Given the description of an element on the screen output the (x, y) to click on. 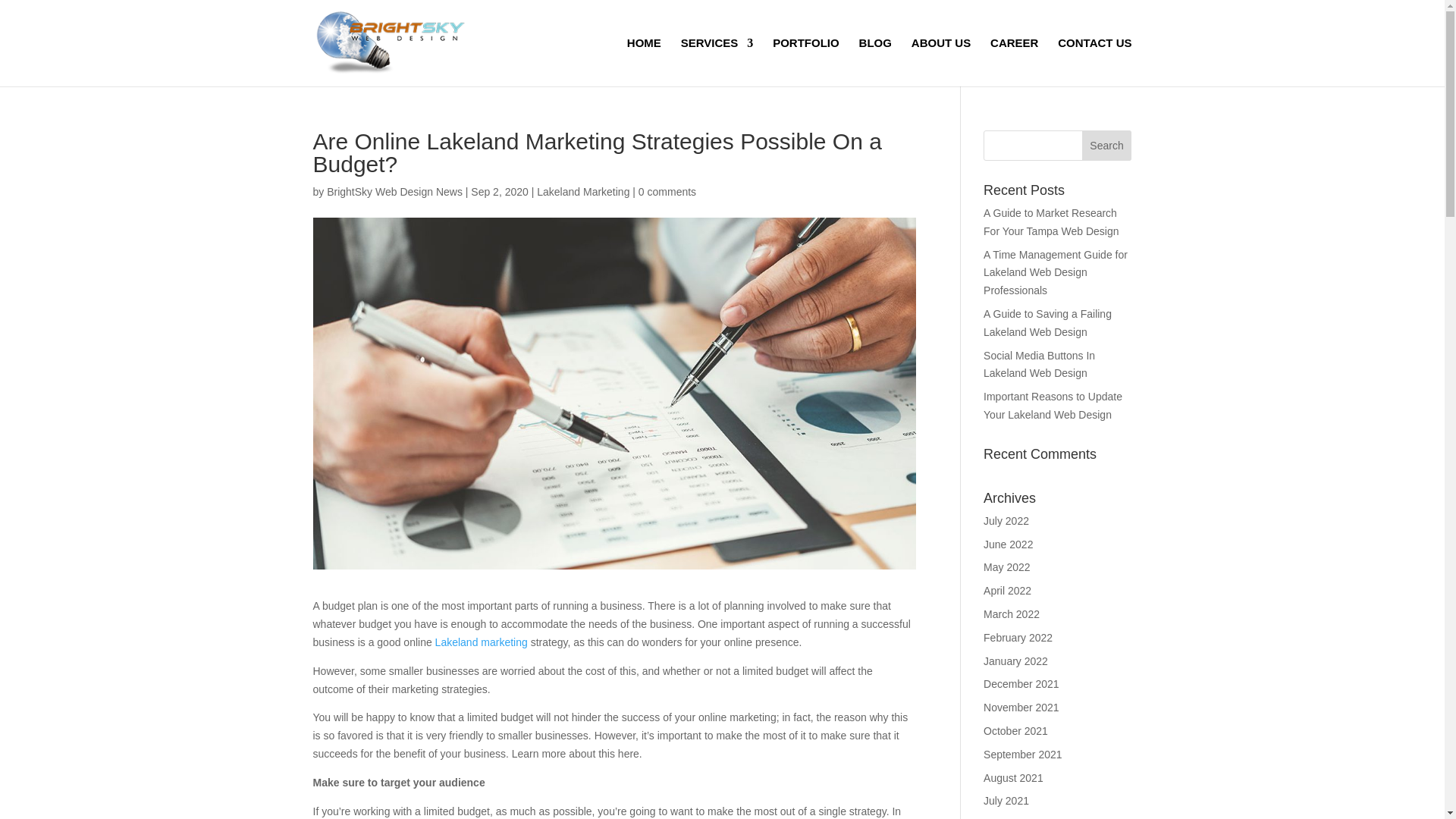
SERVICES (717, 61)
CONTACT US (1094, 61)
Lakeland Marketing (582, 191)
ABOUT US (941, 61)
BrightSky Web Design News (394, 191)
Posts by BrightSky Web Design News (394, 191)
0 comments (667, 191)
CAREER (1014, 61)
Lakeland marketing (481, 642)
Search (1106, 145)
